Given the description of an element on the screen output the (x, y) to click on. 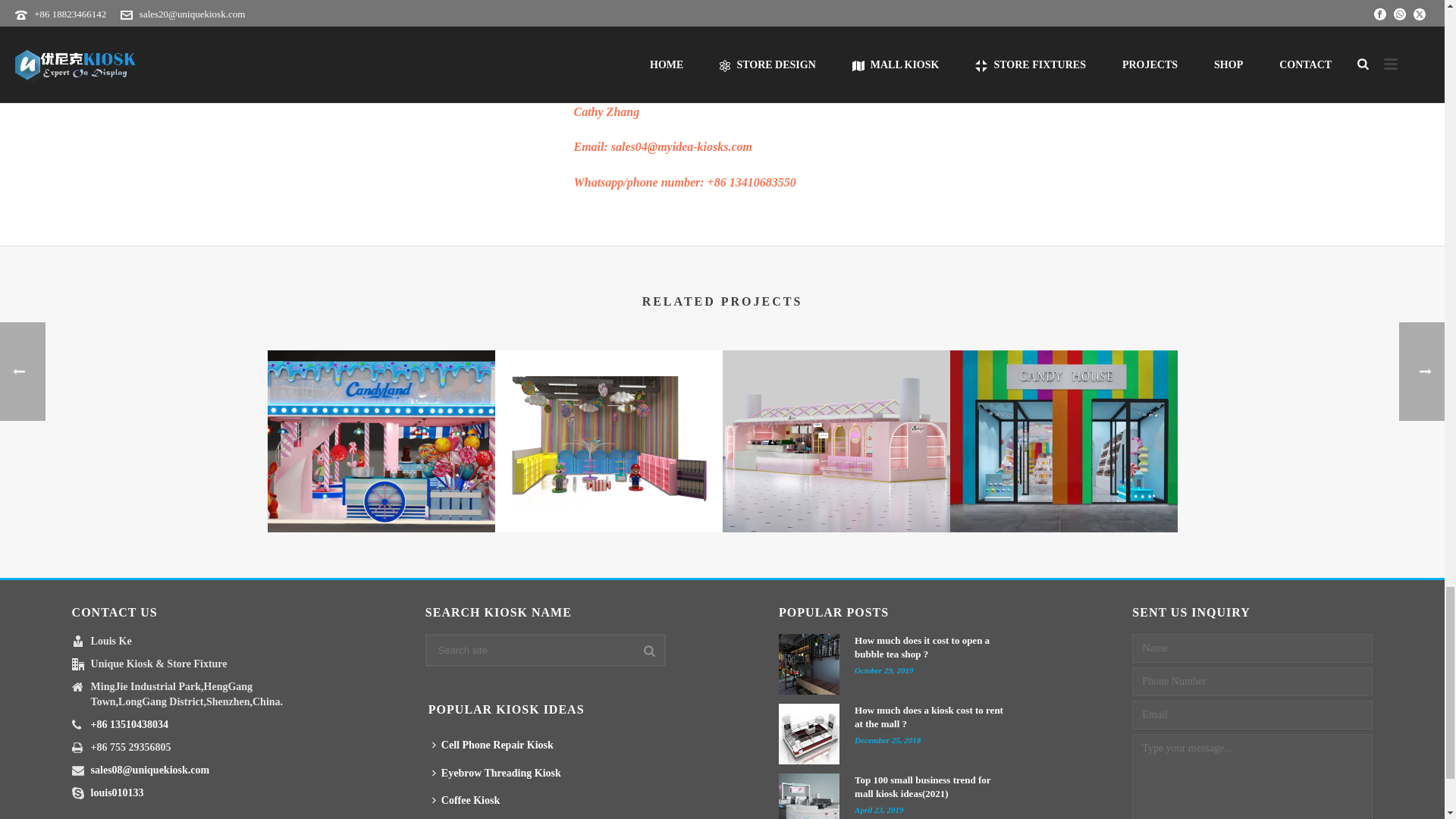
Fancy cute pink candy display case in shopping mall (608, 441)
